Given the description of an element on the screen output the (x, y) to click on. 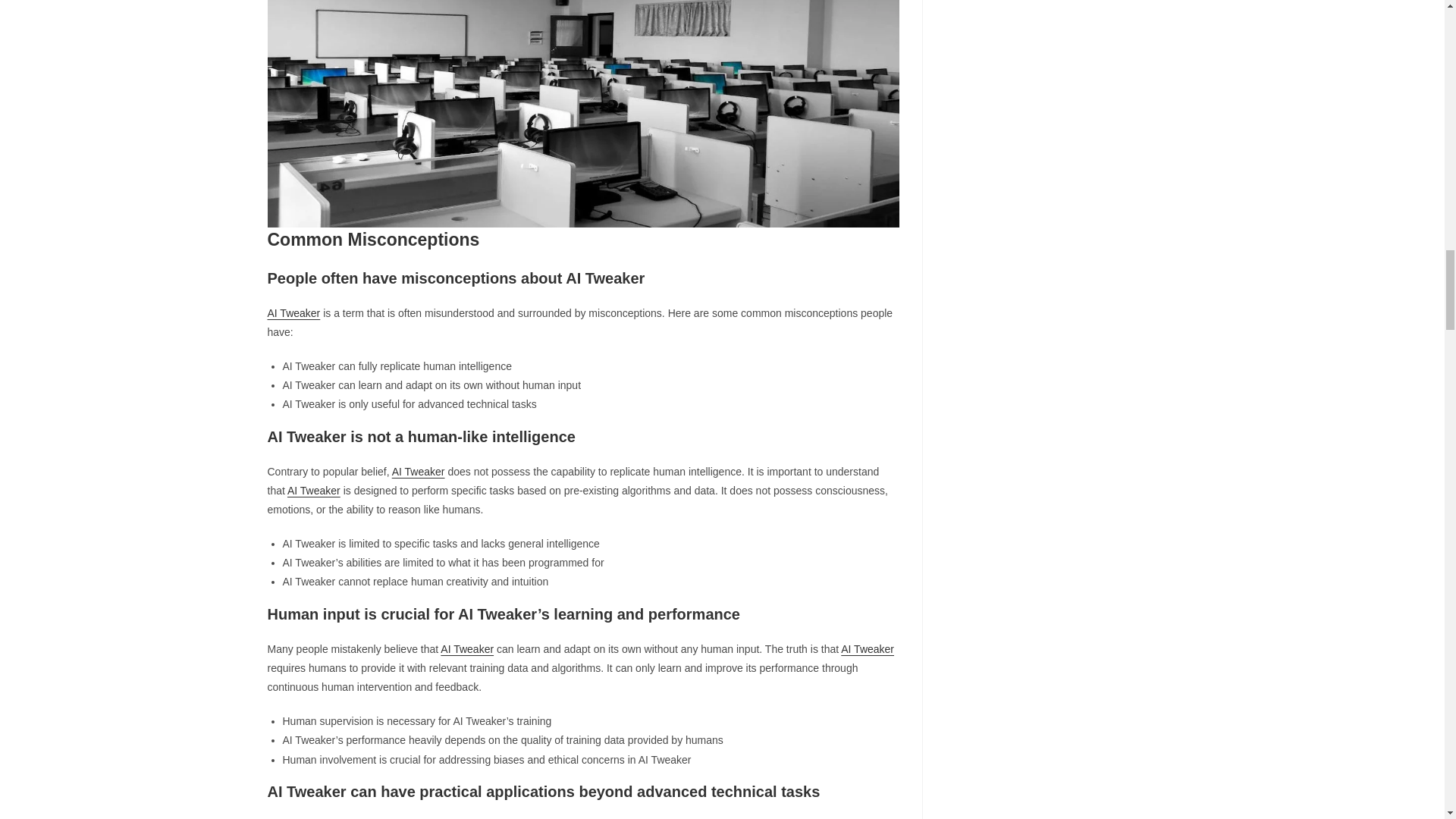
AI Tweaker (467, 648)
AI Tweaker (418, 471)
AI Tweaker (867, 648)
AI Tweaker (313, 490)
AI Tweaker (293, 313)
